Given the description of an element on the screen output the (x, y) to click on. 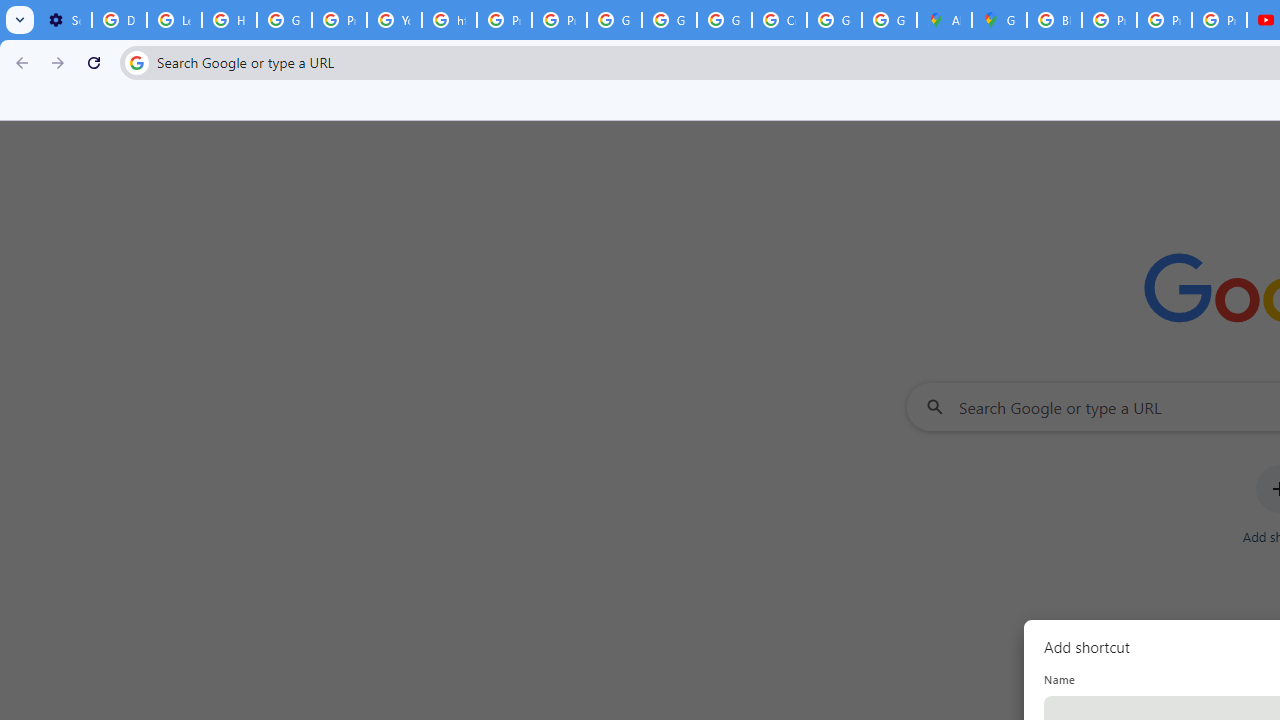
https://scholar.google.com/ (449, 20)
Back (19, 62)
Forward (57, 62)
Delete photos & videos - Computer - Google Photos Help (119, 20)
Settings - Customize profile (64, 20)
Reload (93, 62)
Blogger Policies and Guidelines - Transparency Center (1053, 20)
Privacy Help Center - Policies Help (504, 20)
